Given the description of an element on the screen output the (x, y) to click on. 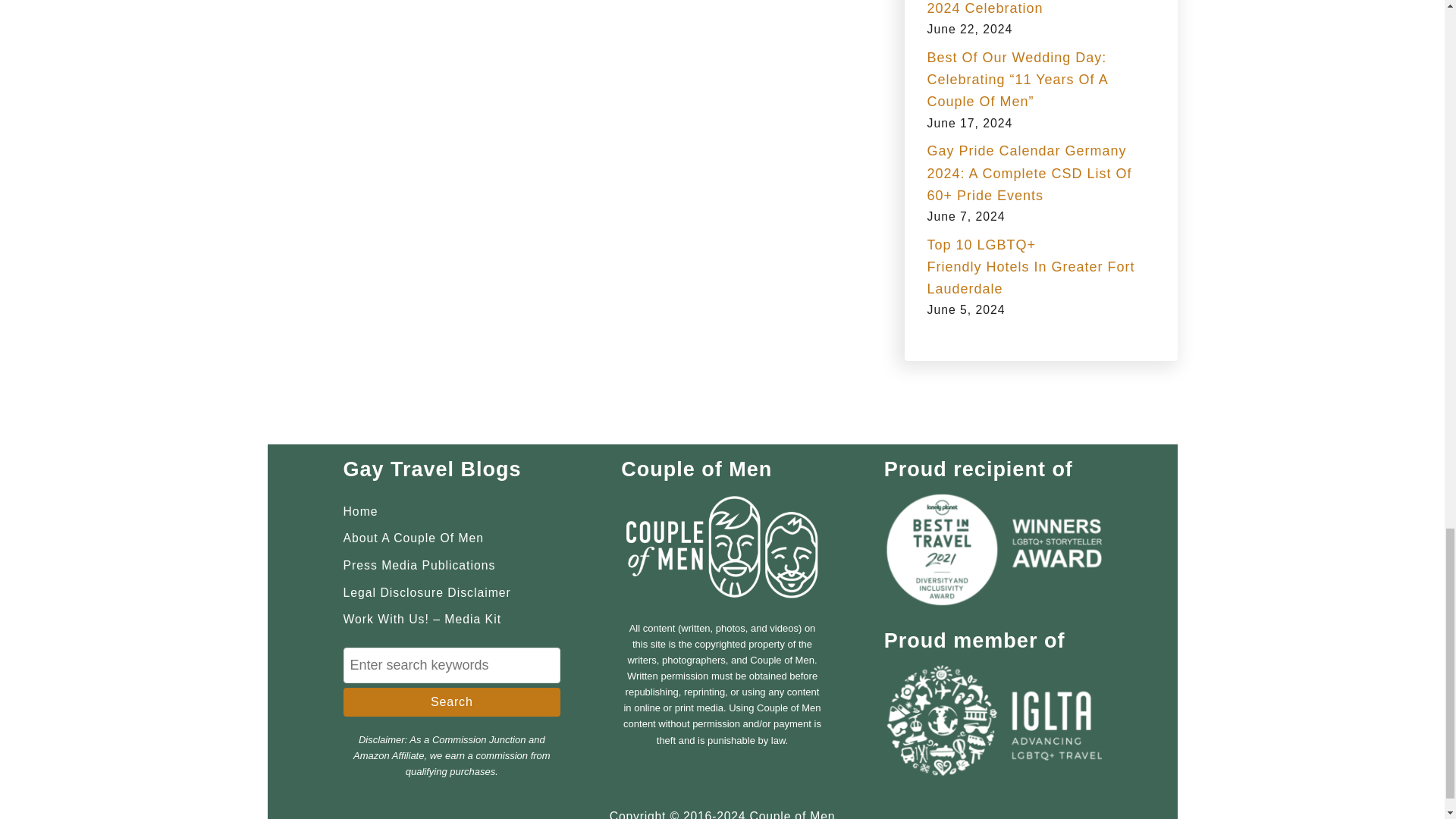
Search for: (451, 665)
Search (451, 701)
Search (451, 701)
